Given the description of an element on the screen output the (x, y) to click on. 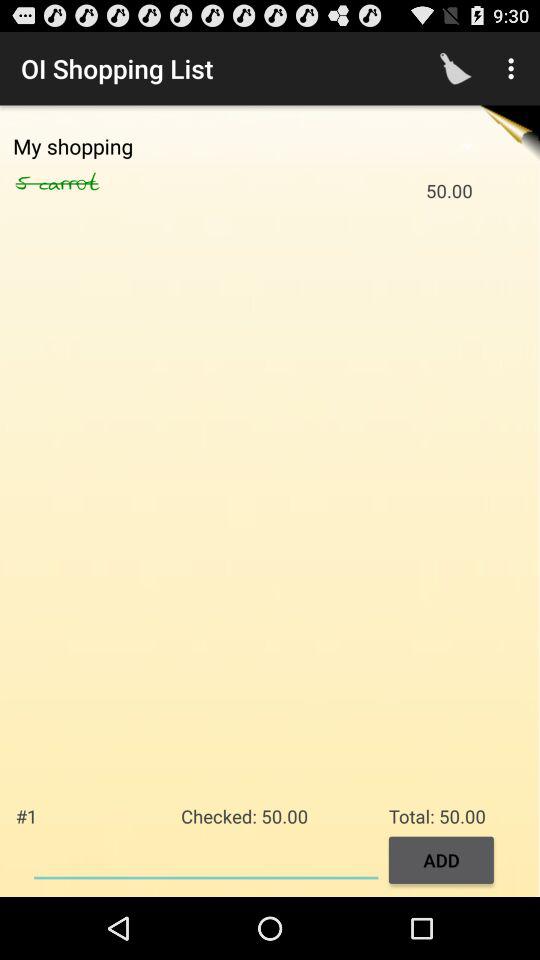
select the app next to oi shopping list (455, 67)
